Given the description of an element on the screen output the (x, y) to click on. 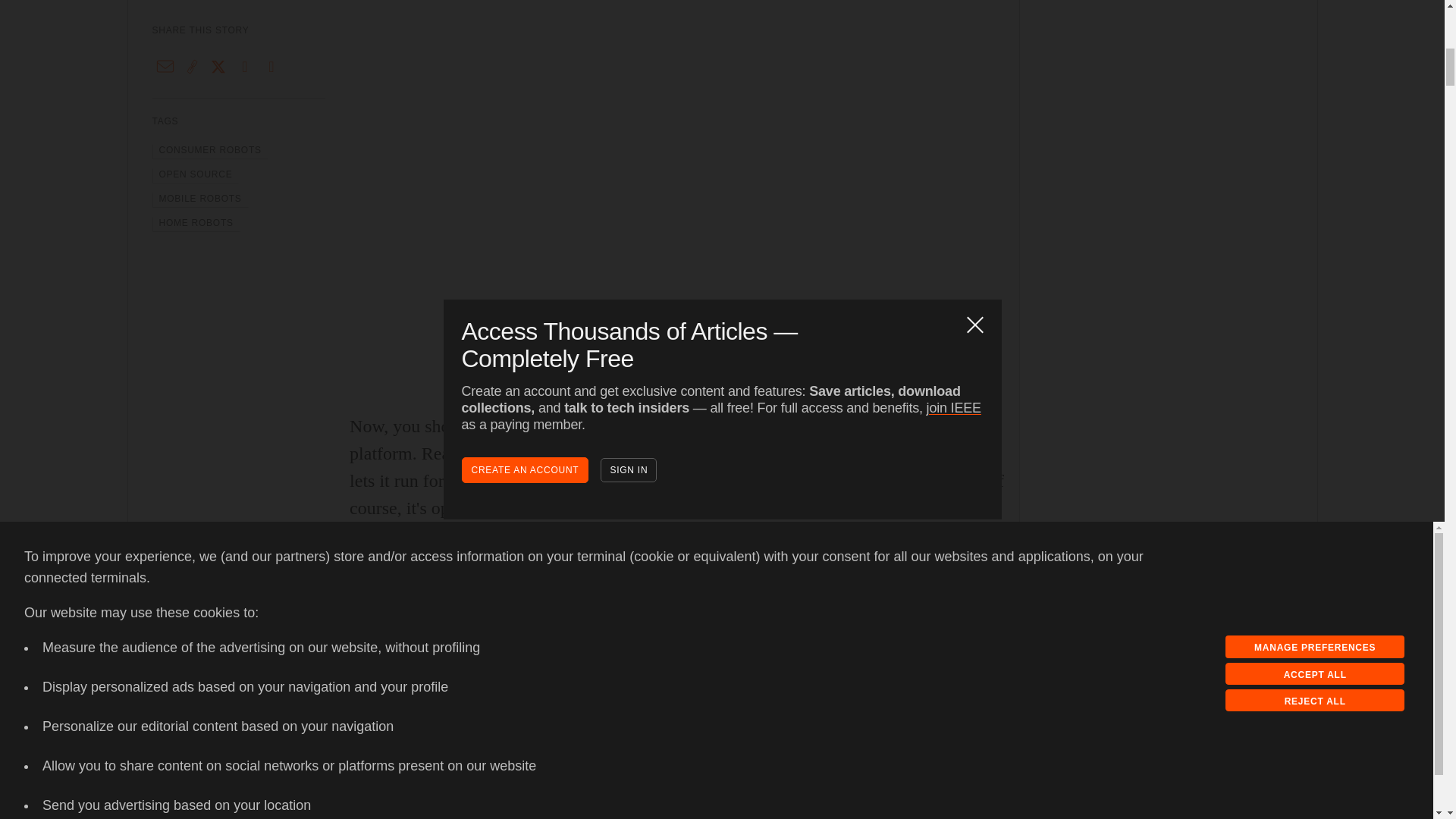
Privacy Policy (66, 29)
